Given the description of an element on the screen output the (x, y) to click on. 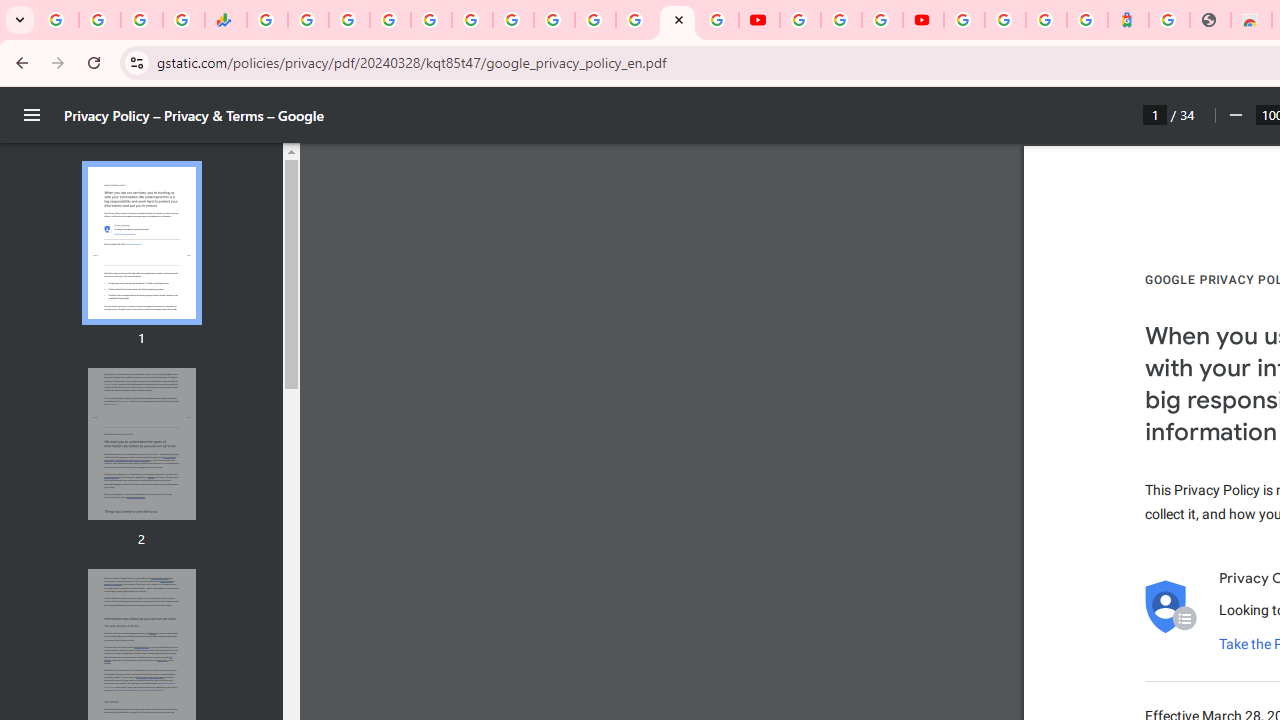
Atour Hotel - Google hotels (1128, 20)
Create your Google Account (881, 20)
Page number (1155, 114)
Android TV Policies and Guidelines - Transparency Center (512, 20)
Privacy Checkup (717, 20)
Thumbnail for page 1 (141, 243)
